Given the description of an element on the screen output the (x, y) to click on. 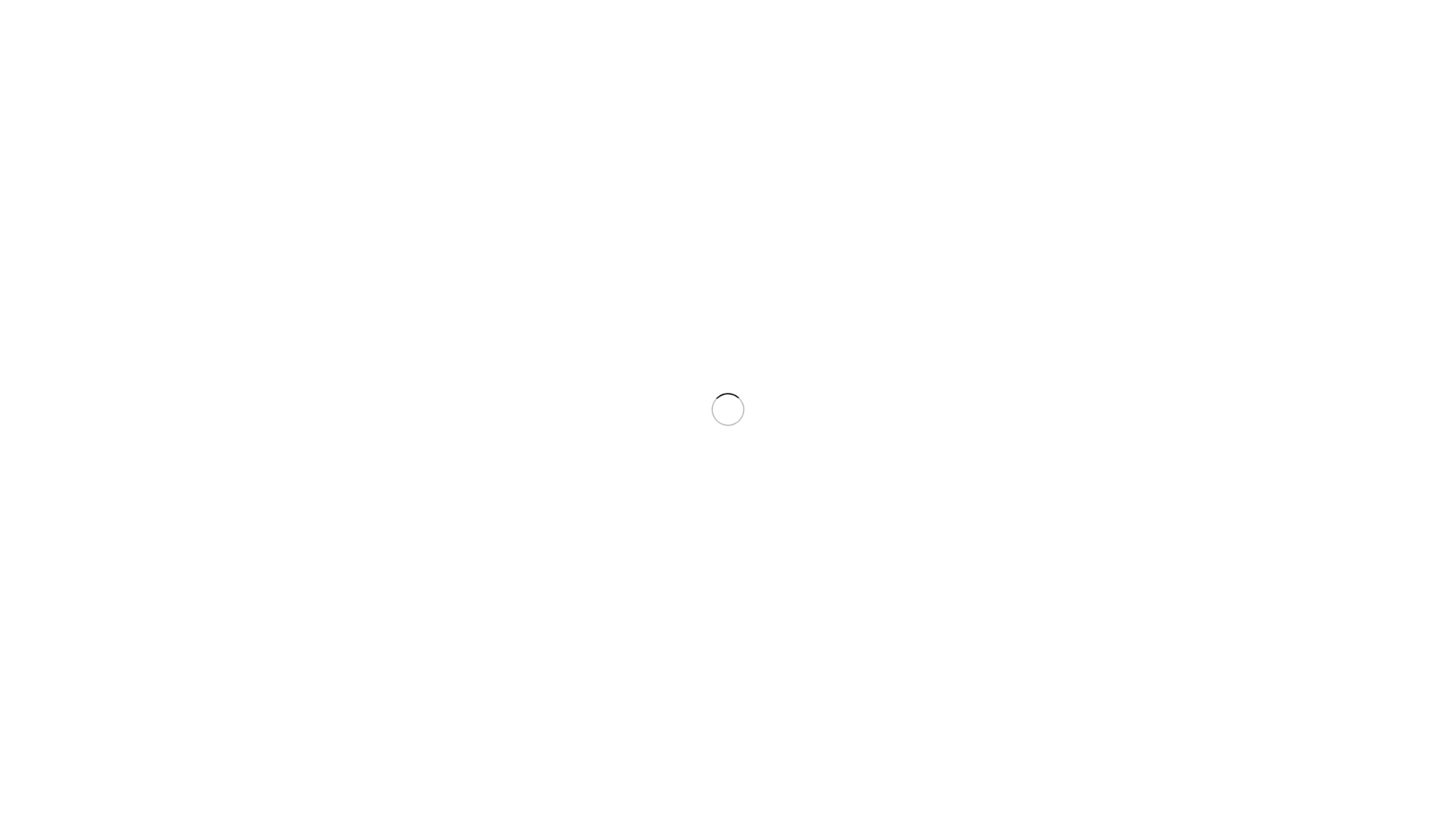
Combiloader Element type: text (98, 510)
+375445149149 Element type: text (235, 25)
info@carscan.by Element type: text (87, 25)
info@carscan.by Element type: text (667, 77)
OpenBox 3 Element type: text (94, 496)
+375 44 544-31-04 Element type: text (822, 77)
BitBox Element type: text (83, 523)
